Given the description of an element on the screen output the (x, y) to click on. 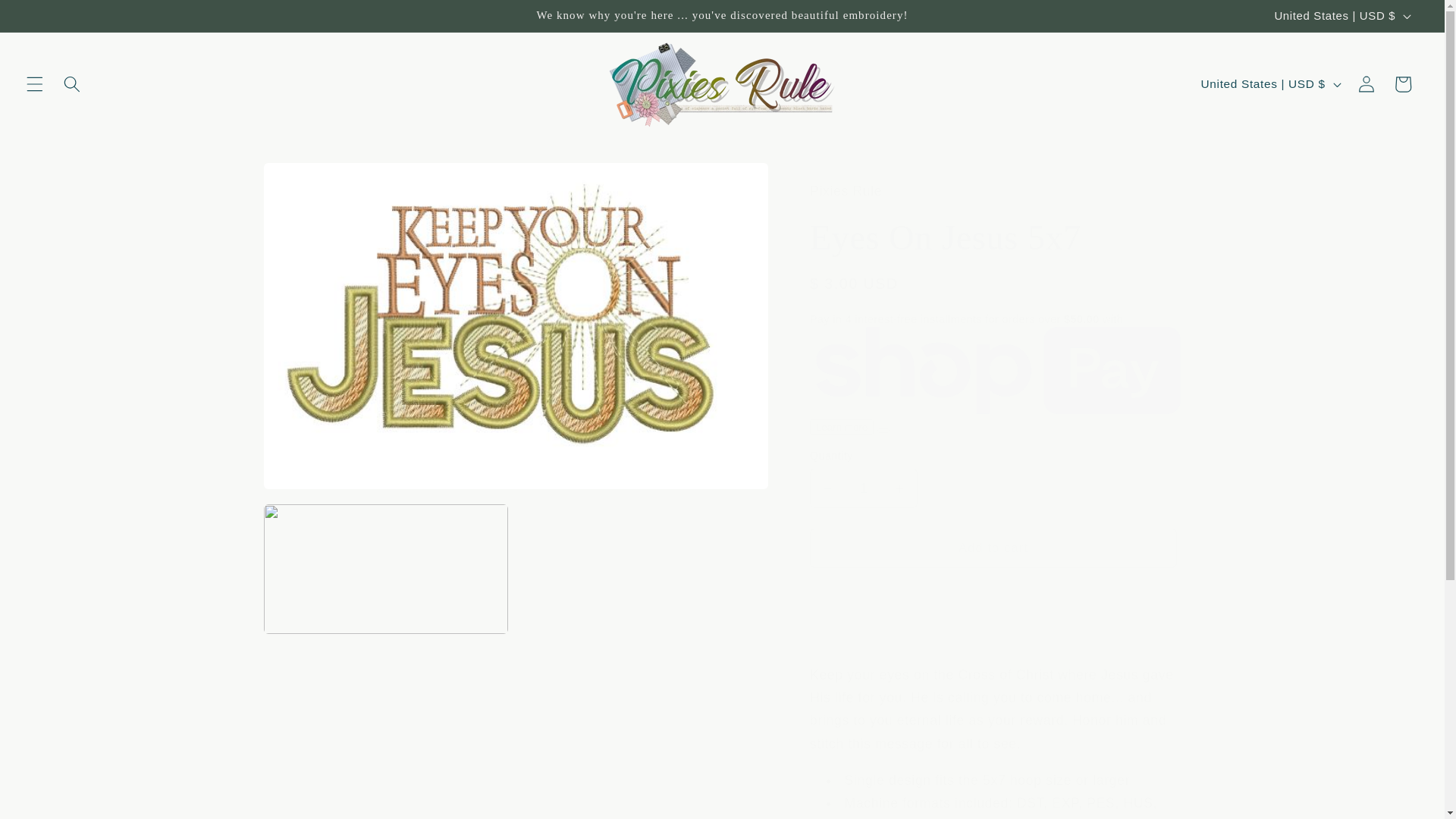
1 (863, 487)
Open media 2 in modal (385, 568)
Skip to content (50, 19)
